Given the description of an element on the screen output the (x, y) to click on. 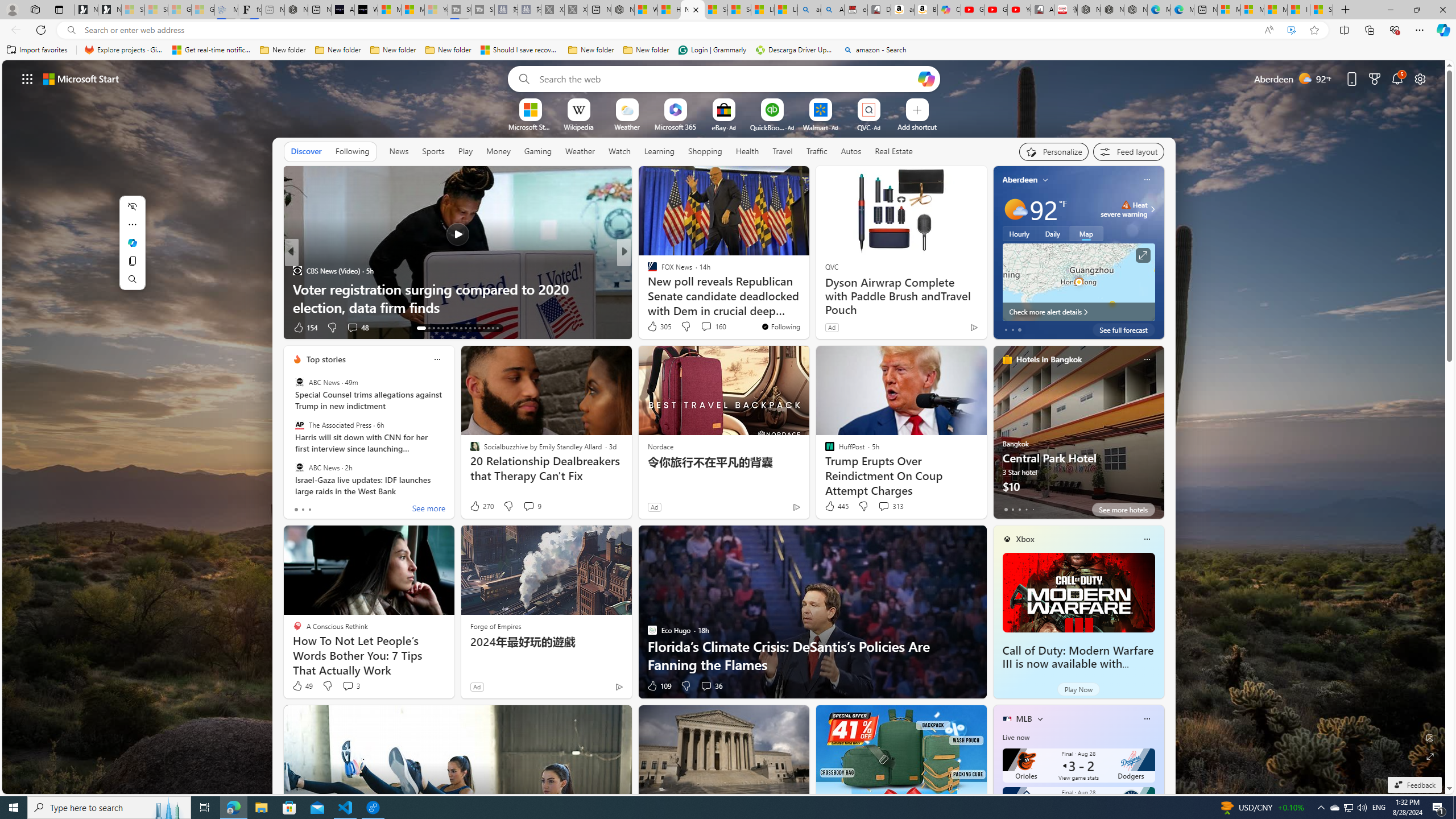
Forge of Empires (495, 625)
New tab - Sleeping (272, 9)
Amazon Echo Dot PNG - Search Images (832, 9)
View comments 3 Comment (350, 685)
View comments 36 Comment (710, 685)
Learning (659, 151)
Restore (1416, 9)
tab-0 (1005, 509)
Check more alert details (1077, 311)
New Tab (1346, 9)
Enter your search term (726, 78)
The Associated Press (299, 424)
MLB (1024, 718)
Travel (782, 151)
